Given the description of an element on the screen output the (x, y) to click on. 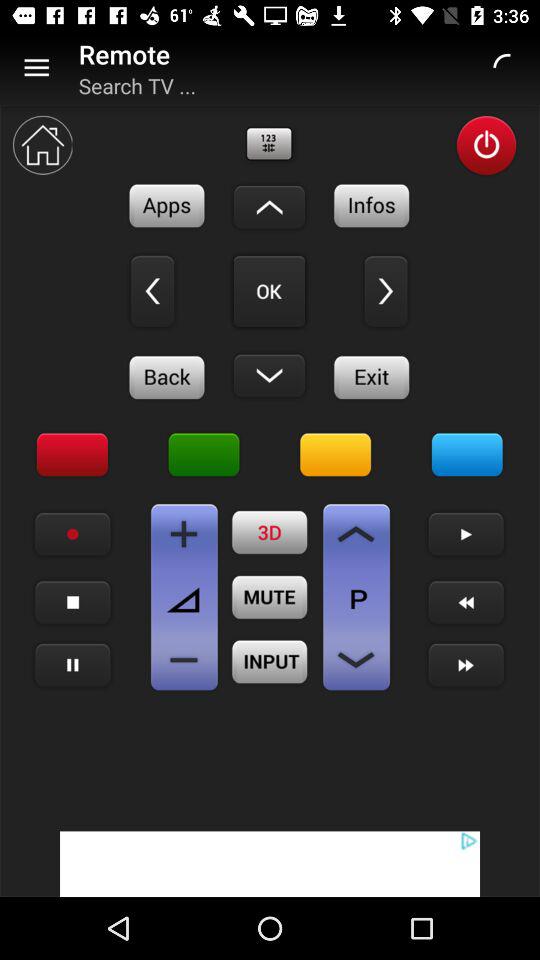
start video playback (466, 534)
